Given the description of an element on the screen output the (x, y) to click on. 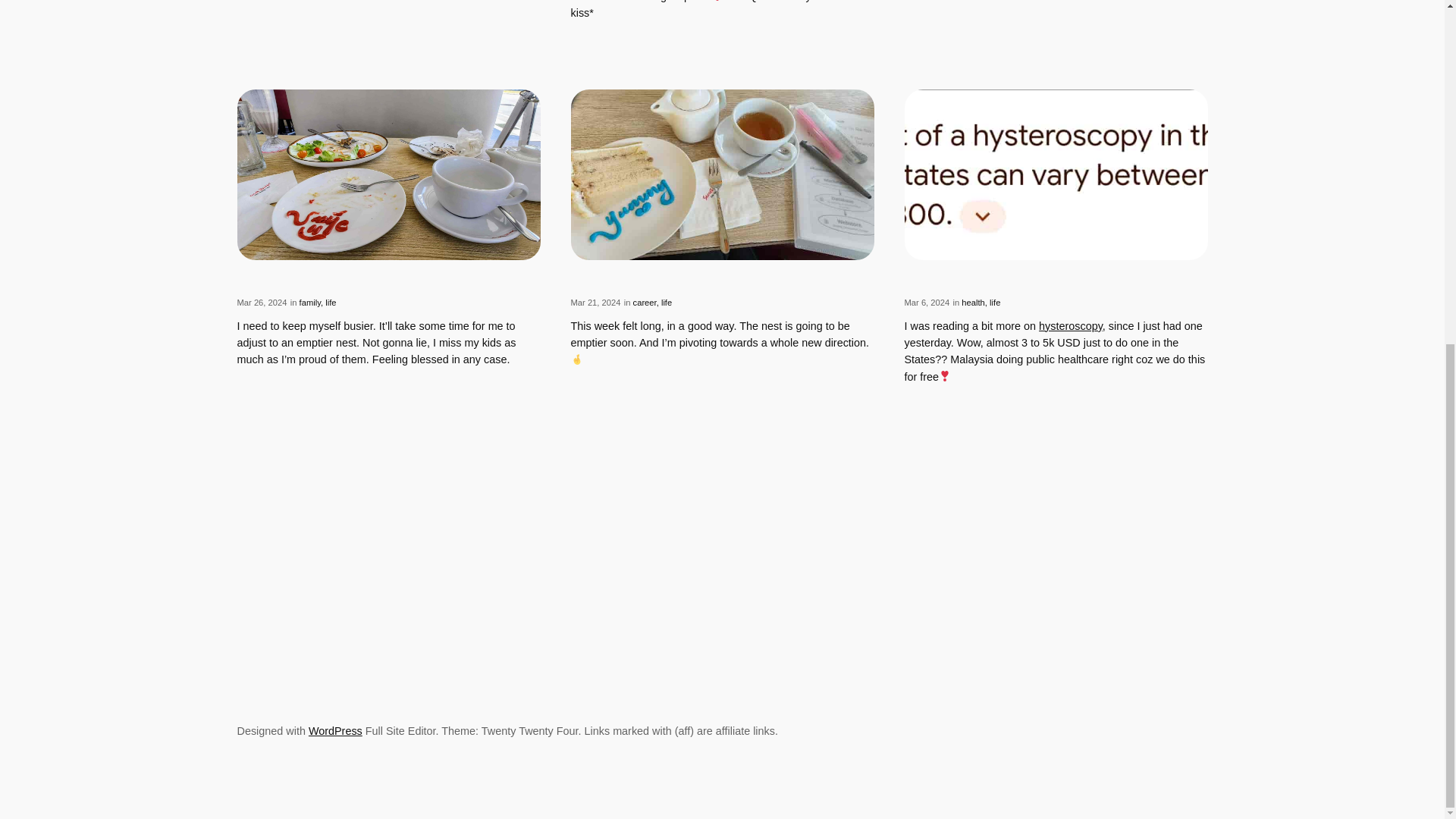
life (330, 302)
life (666, 302)
family (309, 302)
hysteroscopy (1070, 326)
Mar 6, 2024 (926, 302)
Mar 26, 2024 (260, 302)
career (644, 302)
Mar 21, 2024 (595, 302)
life (995, 302)
health (972, 302)
WordPress (335, 730)
